Given the description of an element on the screen output the (x, y) to click on. 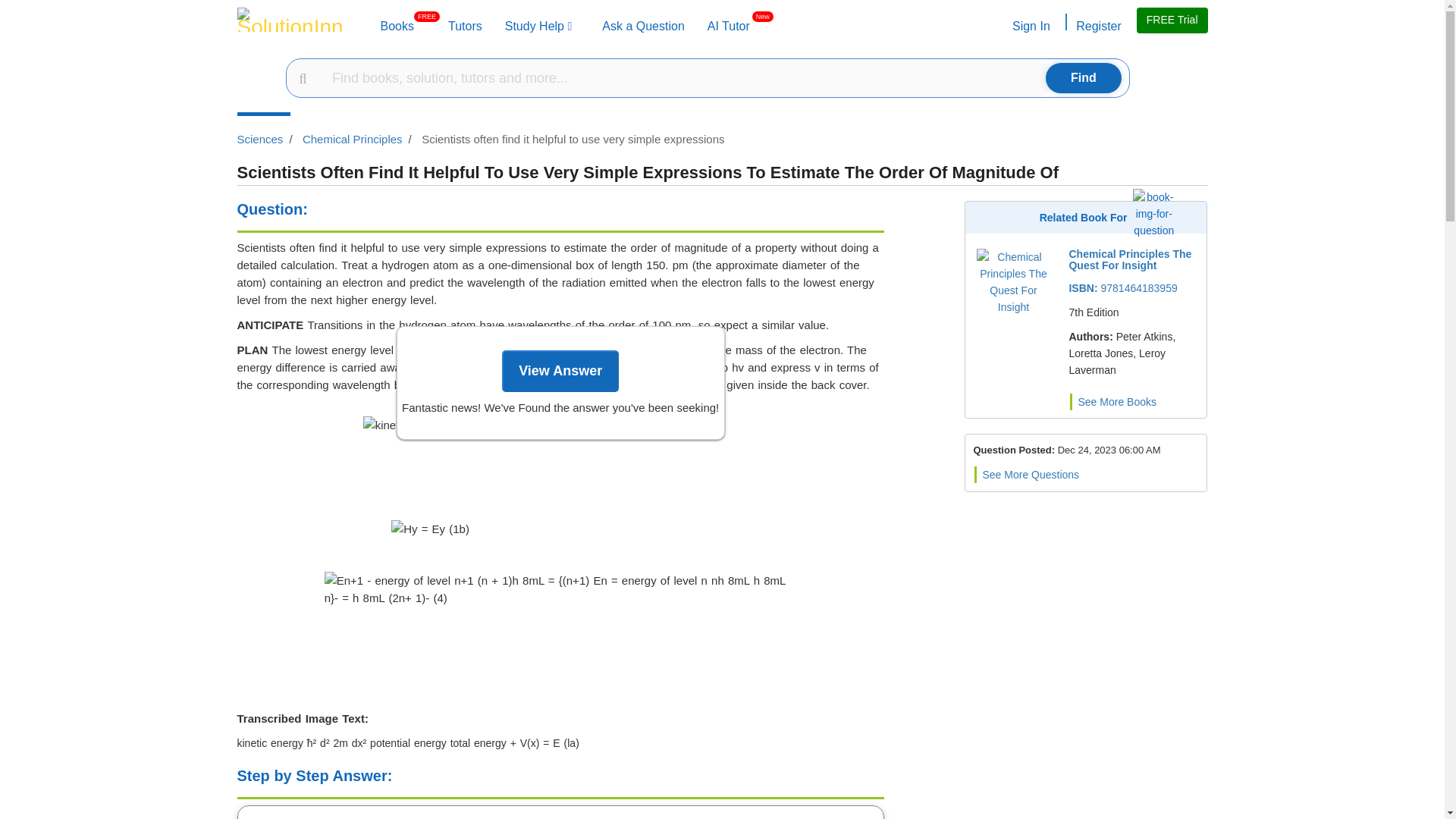
Ask a Question (643, 26)
Sign In (1029, 26)
Study Help (538, 26)
Register (1097, 26)
Posted Date (1109, 449)
Tutors (397, 26)
Sign In (728, 26)
